Given the description of an element on the screen output the (x, y) to click on. 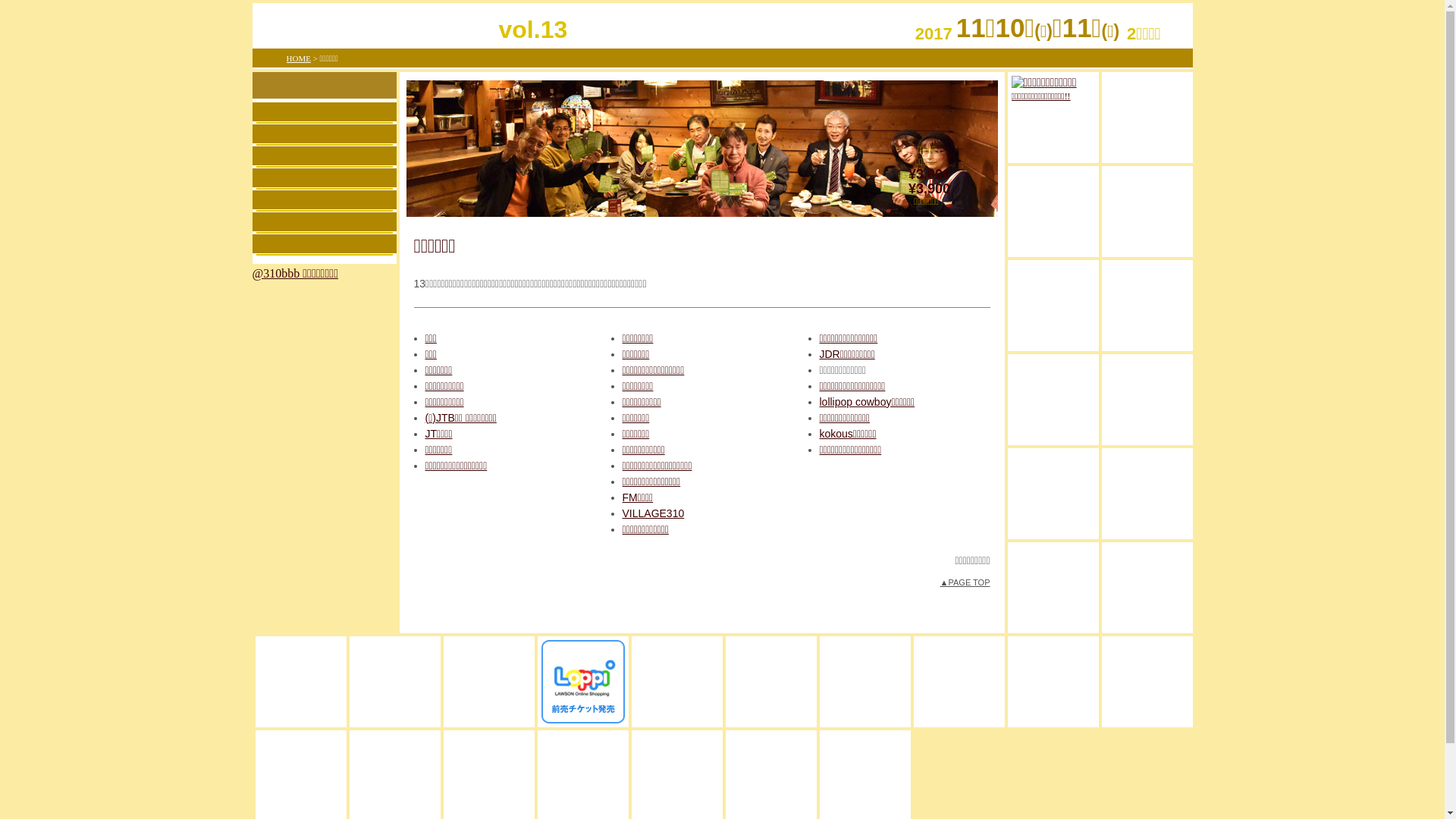
HOME Element type: text (298, 57)
loppi Element type: text (582, 681)
VILLAGE310 Element type: text (652, 512)
HOME Element type: text (323, 111)
JT Element type: text (770, 681)
hotpepper Element type: text (582, 775)
